Given the description of an element on the screen output the (x, y) to click on. 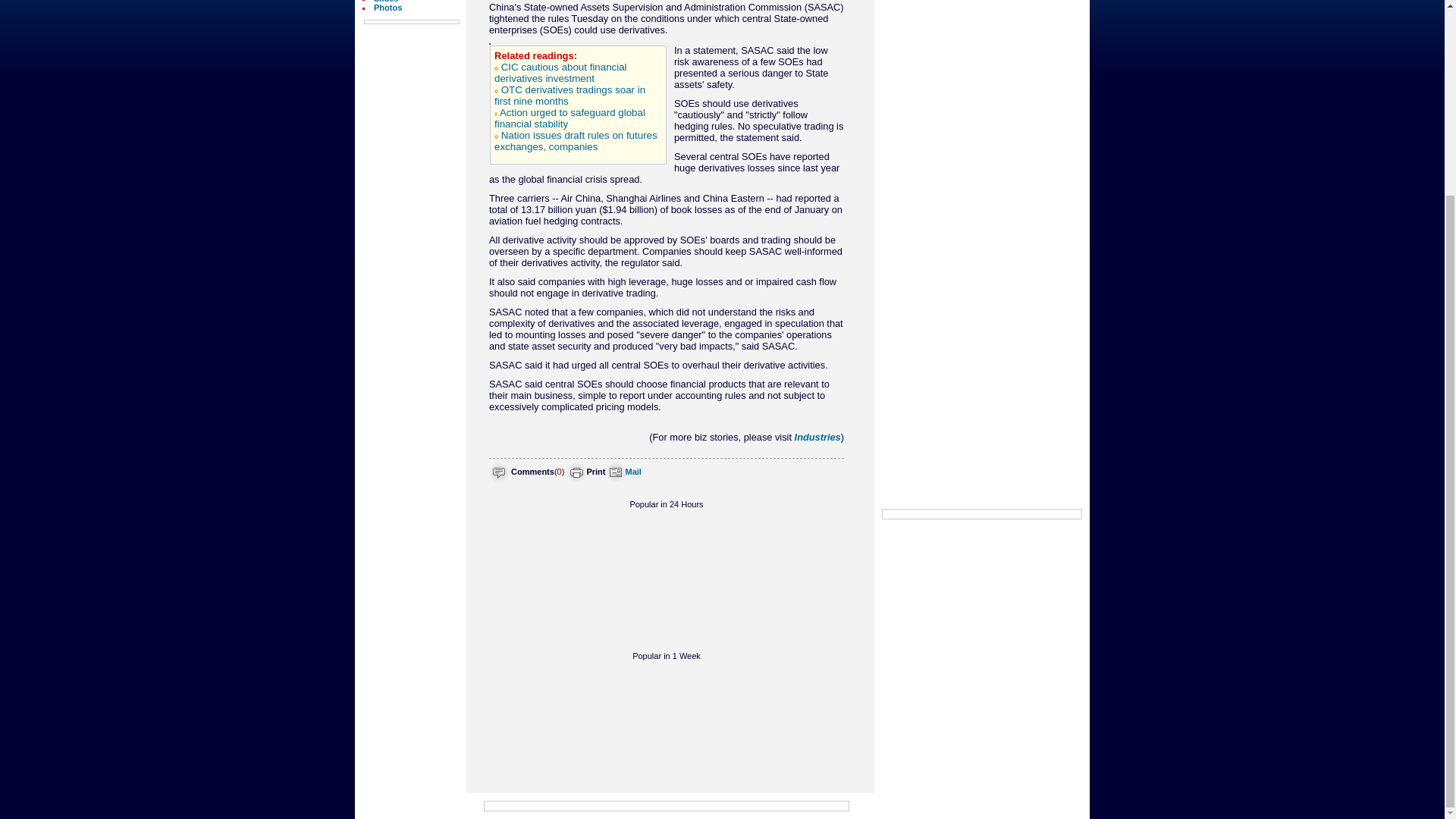
Nation issues draft rules on futures exchanges, companies (576, 140)
Mail (632, 470)
Slides (385, 1)
Print (595, 470)
CIC cautious about financial derivatives investment (561, 72)
OTC derivatives tradings soar in first nine months (570, 95)
Industries (817, 437)
Action urged to safeguard global financial stability (570, 118)
Photos (387, 7)
